Given the description of an element on the screen output the (x, y) to click on. 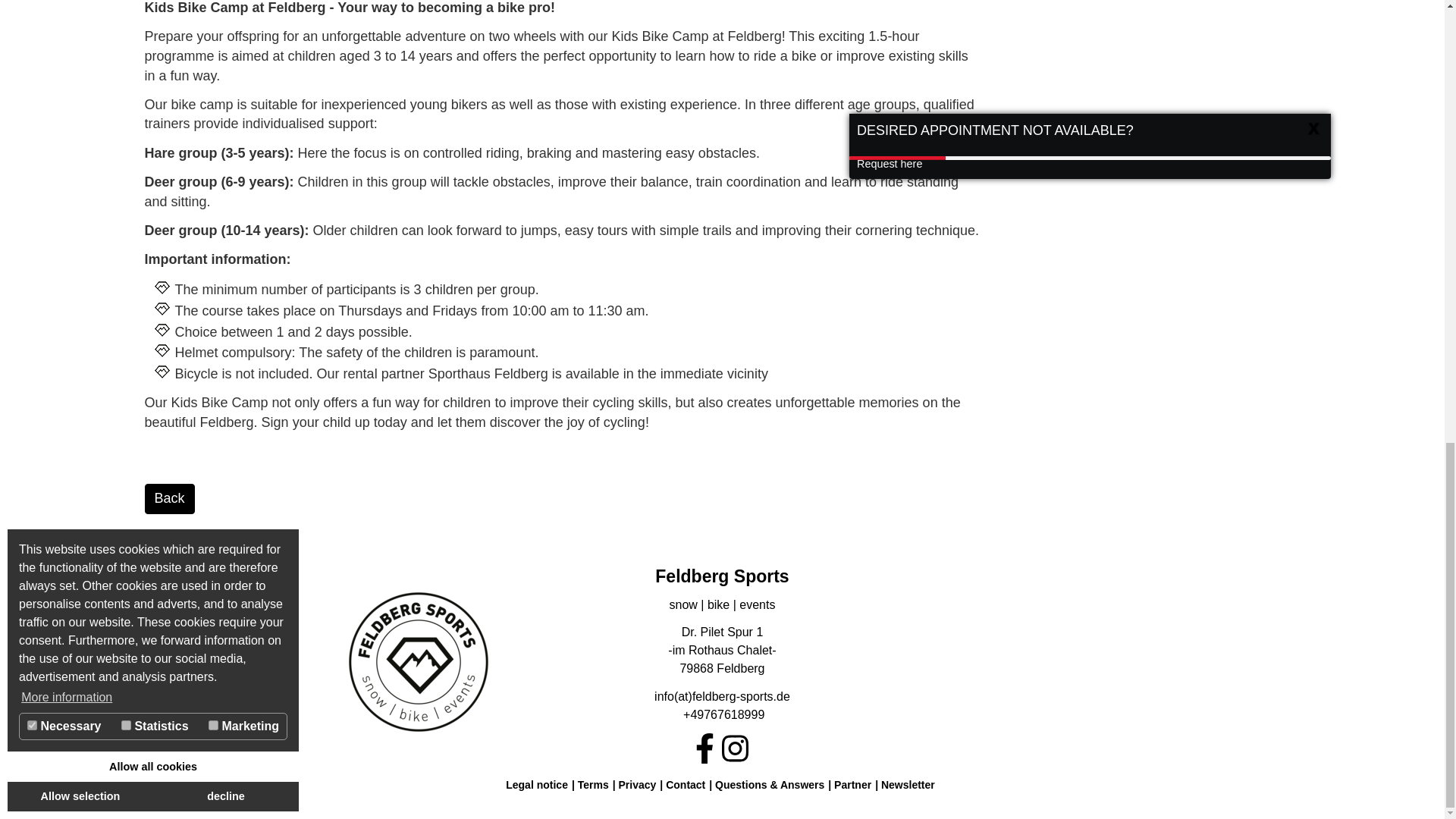
Back (168, 499)
